Given the description of an element on the screen output the (x, y) to click on. 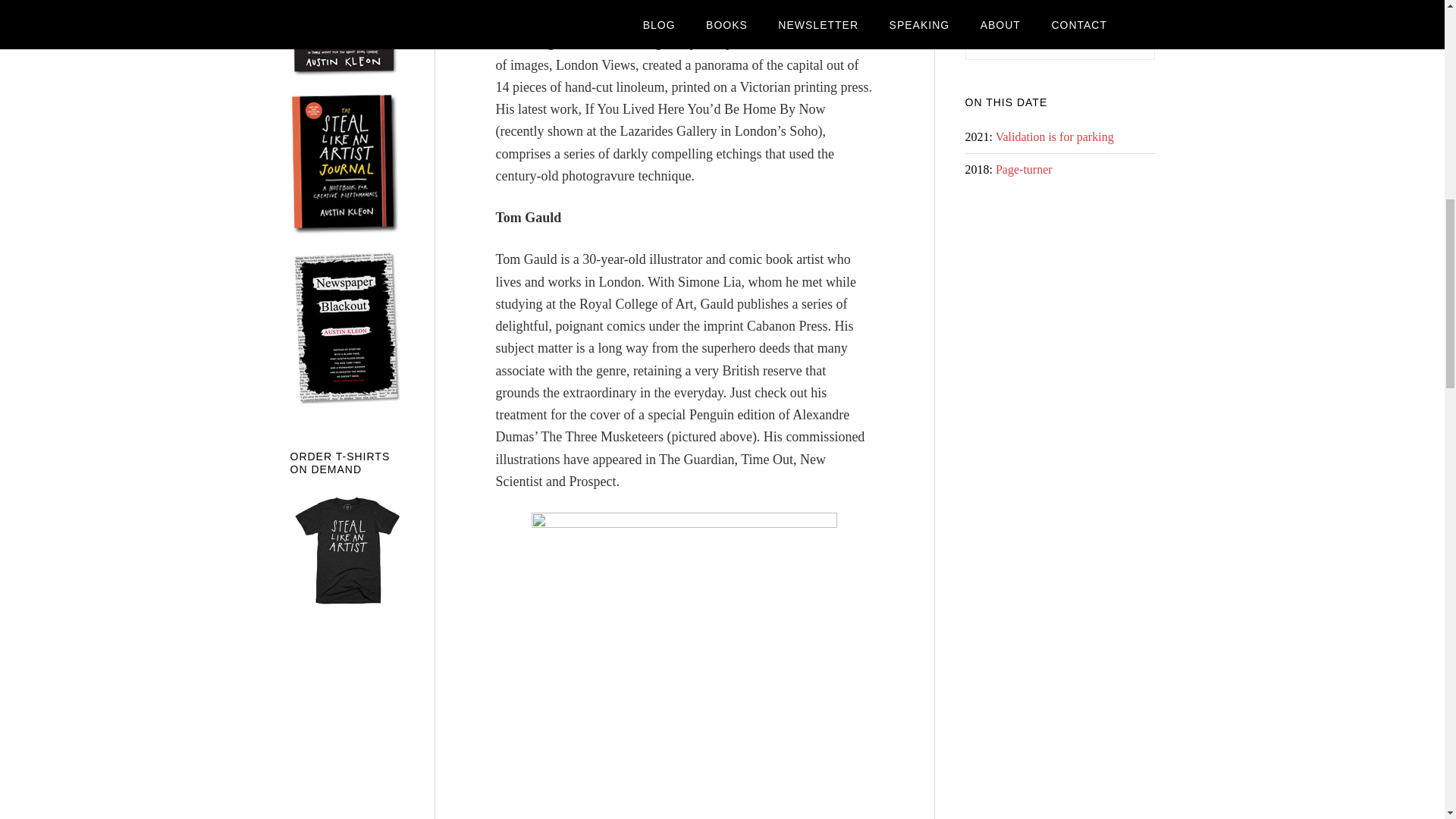
Page-turner (1023, 169)
Validation is for parking (1054, 136)
ON THIS DATE (1004, 102)
